Given the description of an element on the screen output the (x, y) to click on. 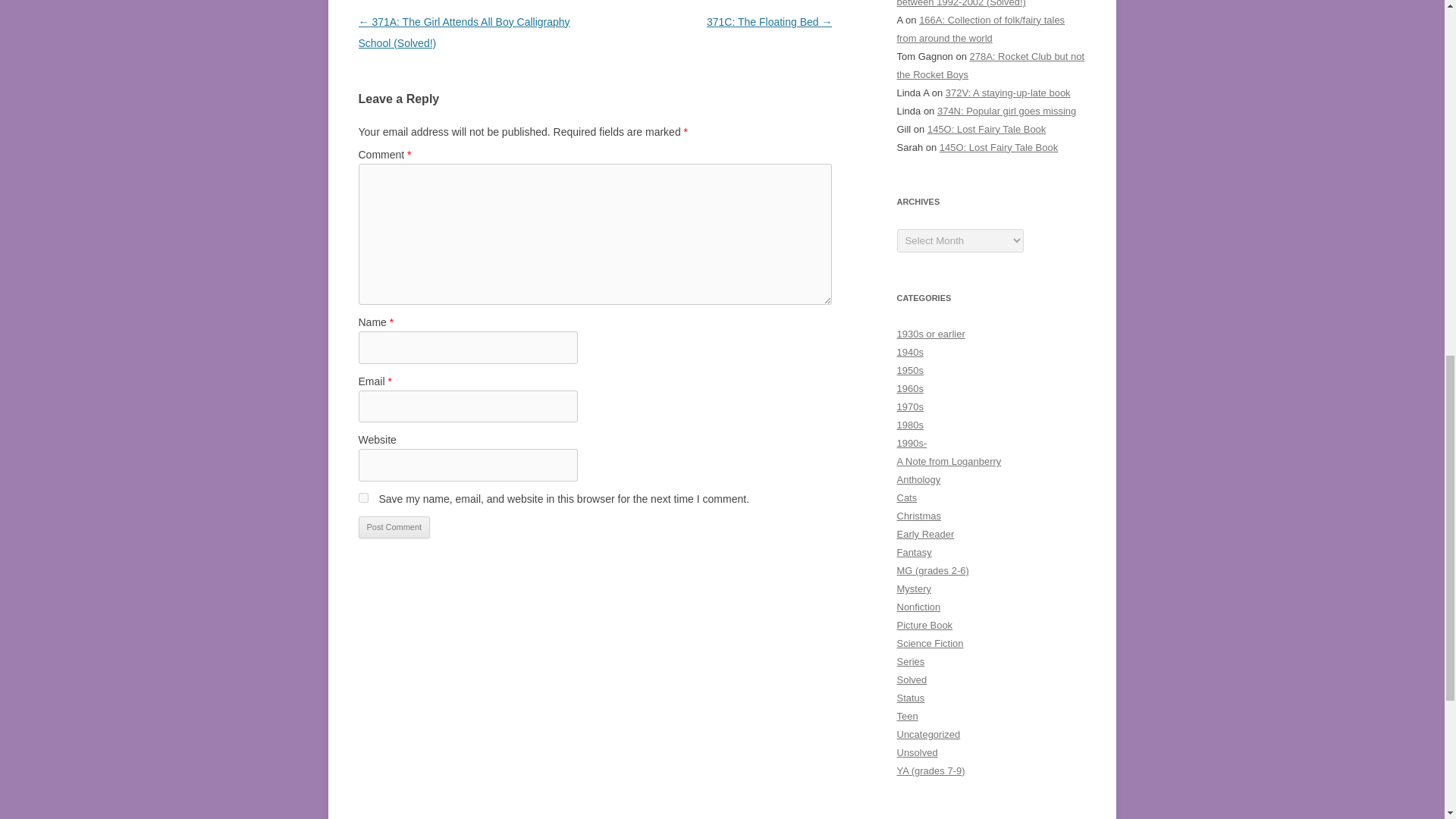
374N: Popular girl goes missing (1006, 111)
372V: A staying-up-late book (1007, 92)
Post Comment (393, 527)
145O: Lost Fairy Tale Book (986, 129)
1930s or earlier (929, 333)
1940s (909, 351)
278A: Rocket Club but not the Rocket Boys (990, 65)
Post Comment (393, 527)
145O: Lost Fairy Tale Book (998, 146)
yes (363, 497)
